Given the description of an element on the screen output the (x, y) to click on. 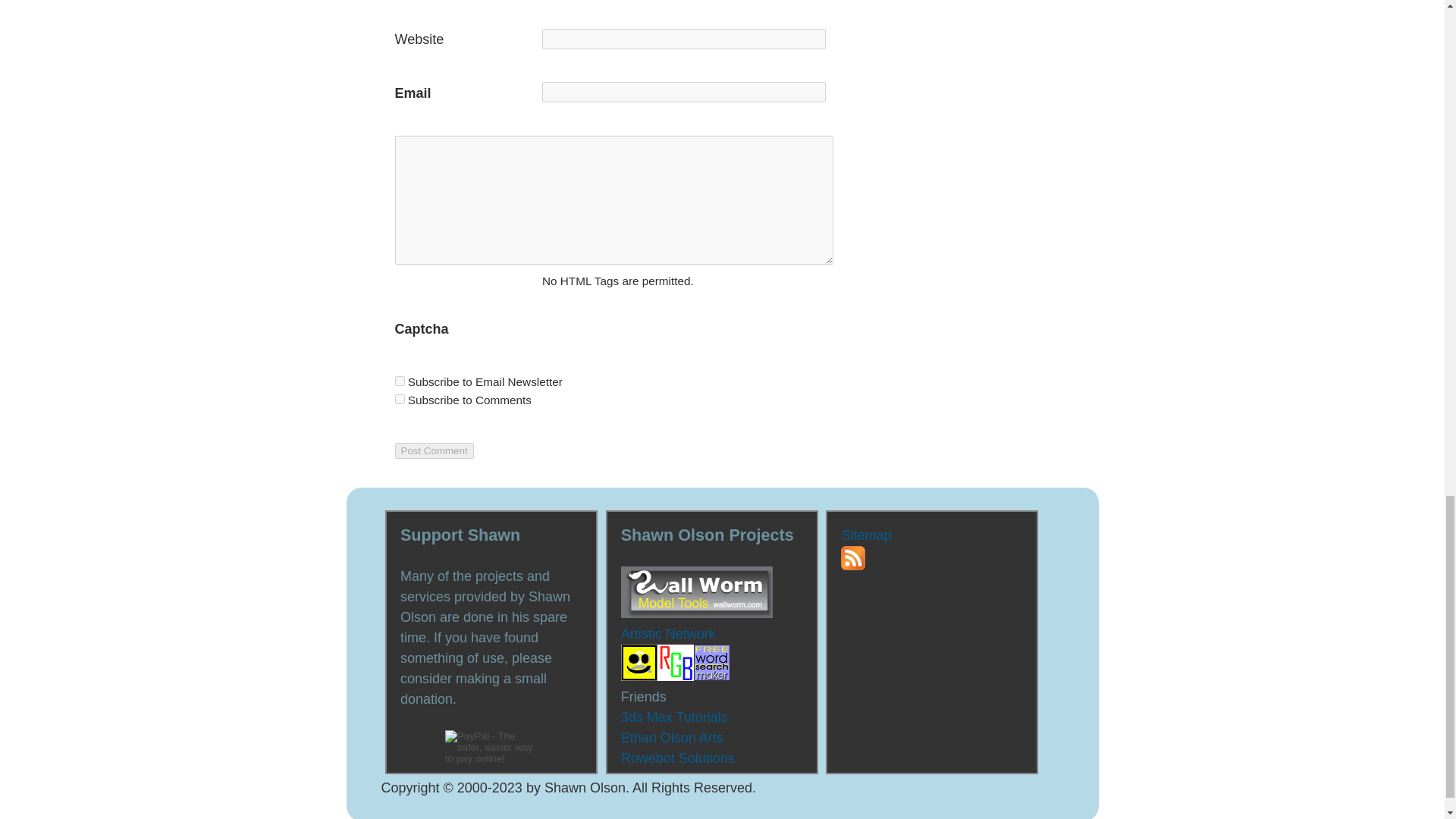
Subscribe to comments related to this page. (537, 399)
Video Tutorials on creating VFX in 3ds Max (674, 717)
Rowebot Solutions (678, 758)
Post Comment (433, 450)
Ethan Olson is a 3D artist and son of Shawn Olson (672, 737)
Ethan Olson Arts (672, 737)
Type your comment here. (613, 199)
Max 255 Characters (683, 91)
Max 255 Characters (683, 38)
Post Comment (433, 450)
Prove you are human. (463, 328)
Subscribe to comments related to this page. (399, 398)
Subscribe to an email newsletter. (399, 380)
2 (399, 398)
